Given the description of an element on the screen output the (x, y) to click on. 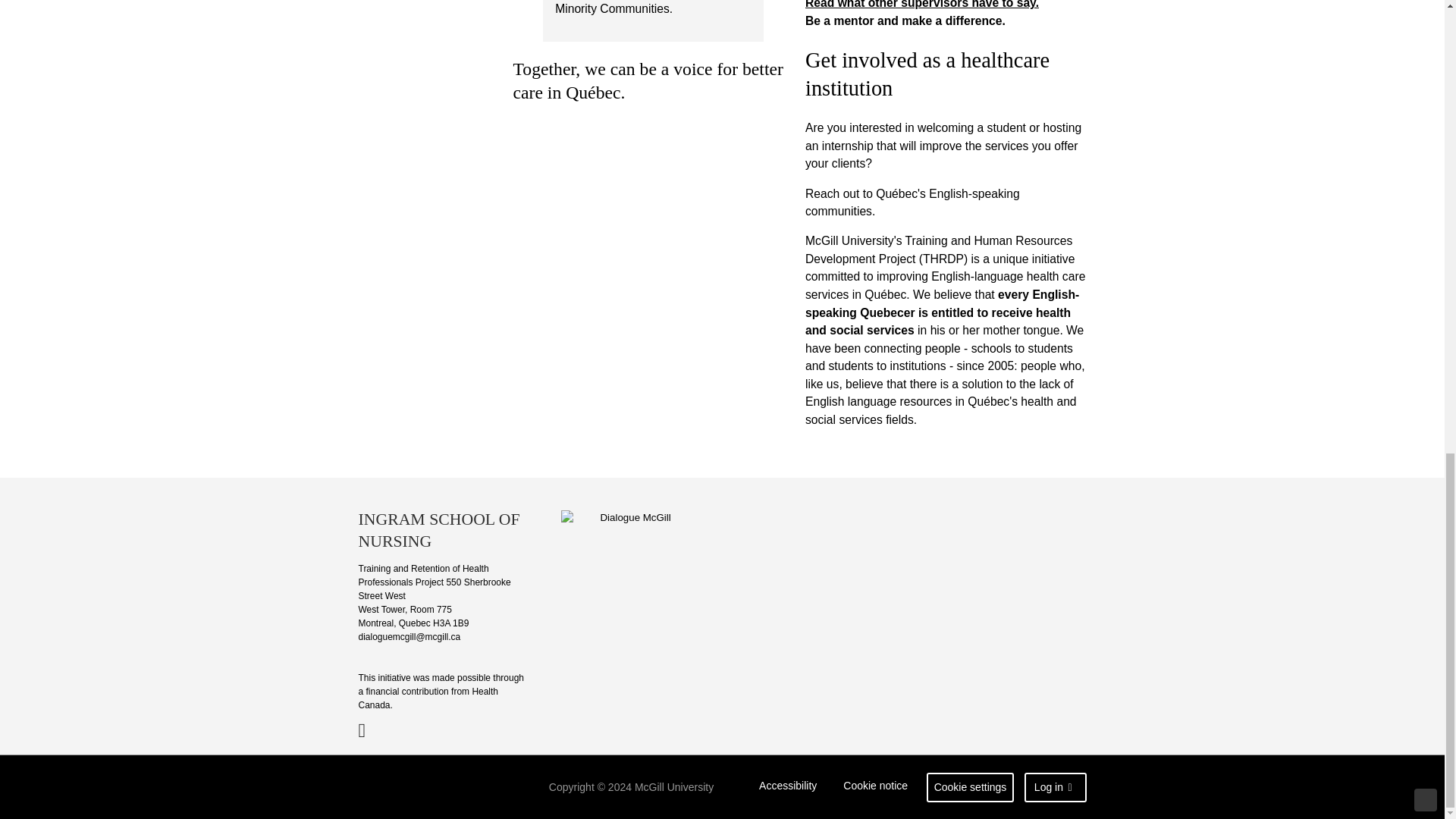
Cookie notice (875, 787)
YouTube (368, 730)
Read what other supervisors have to say. (922, 4)
return to McGill University (417, 786)
Follow Dialogue McGill  on YouTube (368, 730)
Accessibility (788, 787)
